Given the description of an element on the screen output the (x, y) to click on. 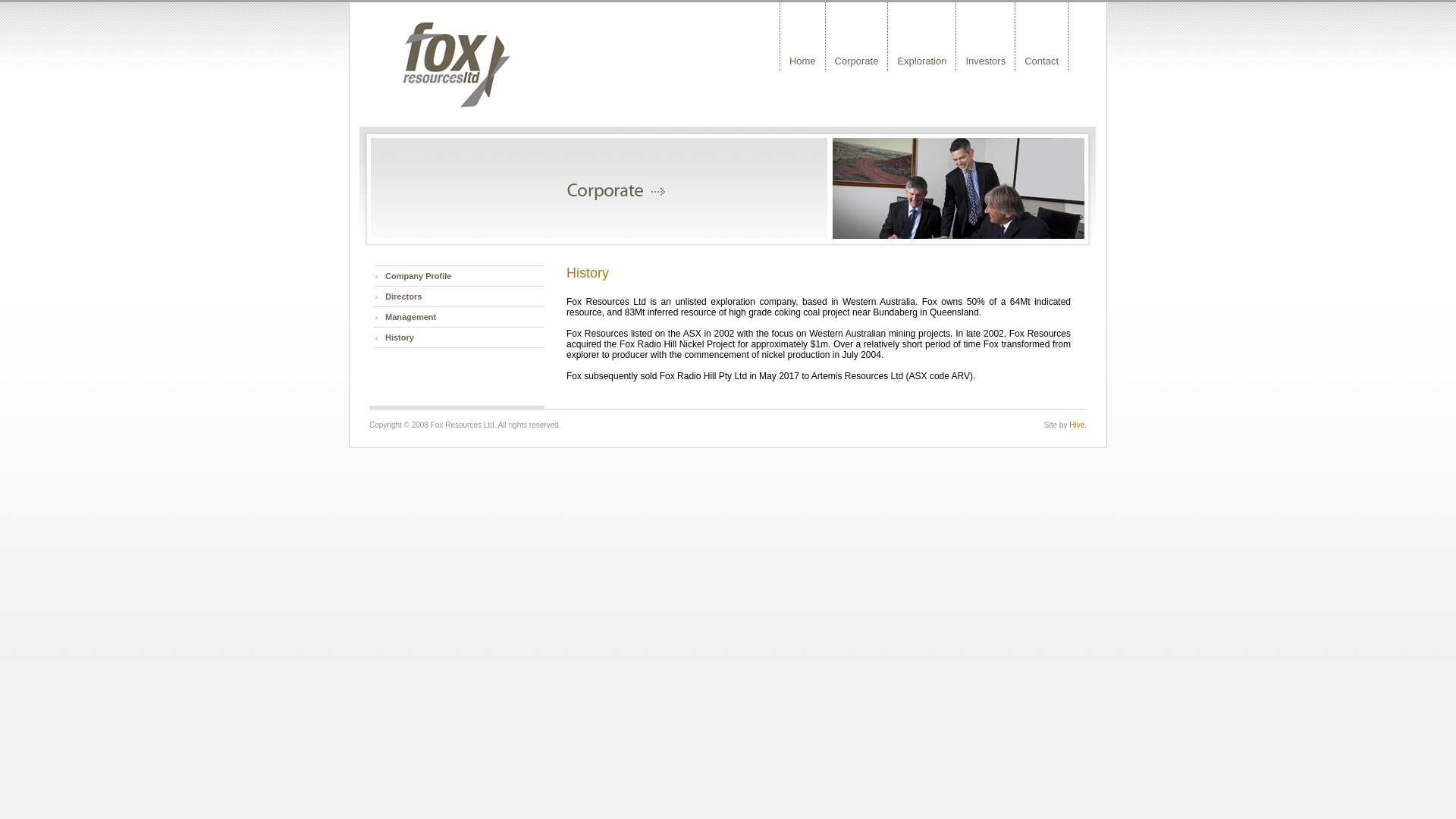
Company Profile Element type: text (458, 276)
Hive. Element type: text (1077, 424)
Exploration Element type: text (922, 36)
Contact Element type: text (1041, 36)
History Element type: text (458, 337)
Directors Element type: text (458, 296)
Home Element type: text (802, 36)
Management Element type: text (458, 317)
Investors Element type: text (985, 36)
Corporate Element type: text (856, 36)
